Given the description of an element on the screen output the (x, y) to click on. 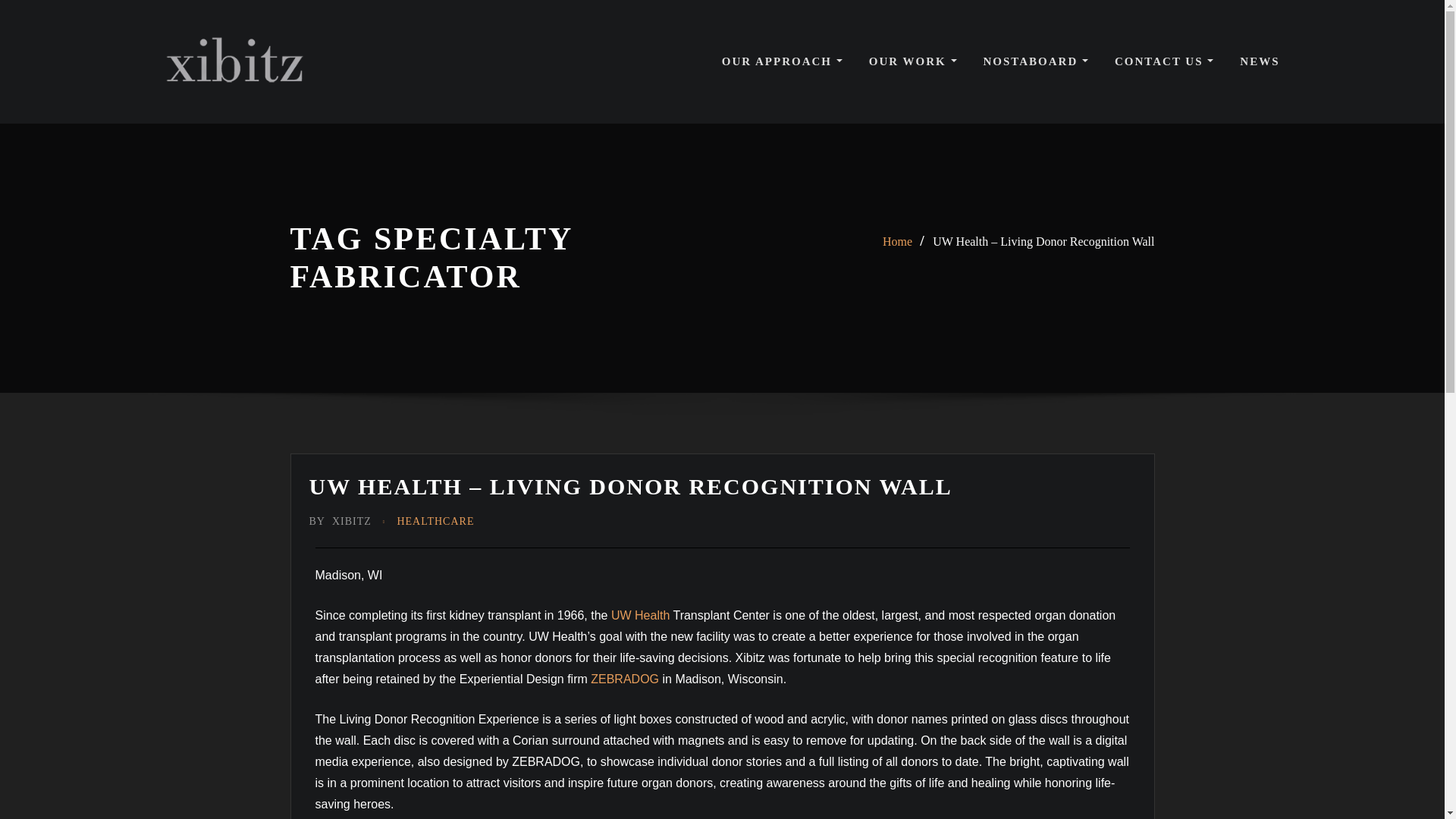
CONTACT US (1163, 61)
OUR APPROACH (782, 61)
ZEBRADOG (625, 678)
Home (897, 241)
HEALTHCARE (435, 521)
NEWS (1259, 61)
NOSTABOARD (1034, 61)
OUR WORK (912, 61)
BY XIBITZ (339, 521)
UW Health (640, 615)
